Given the description of an element on the screen output the (x, y) to click on. 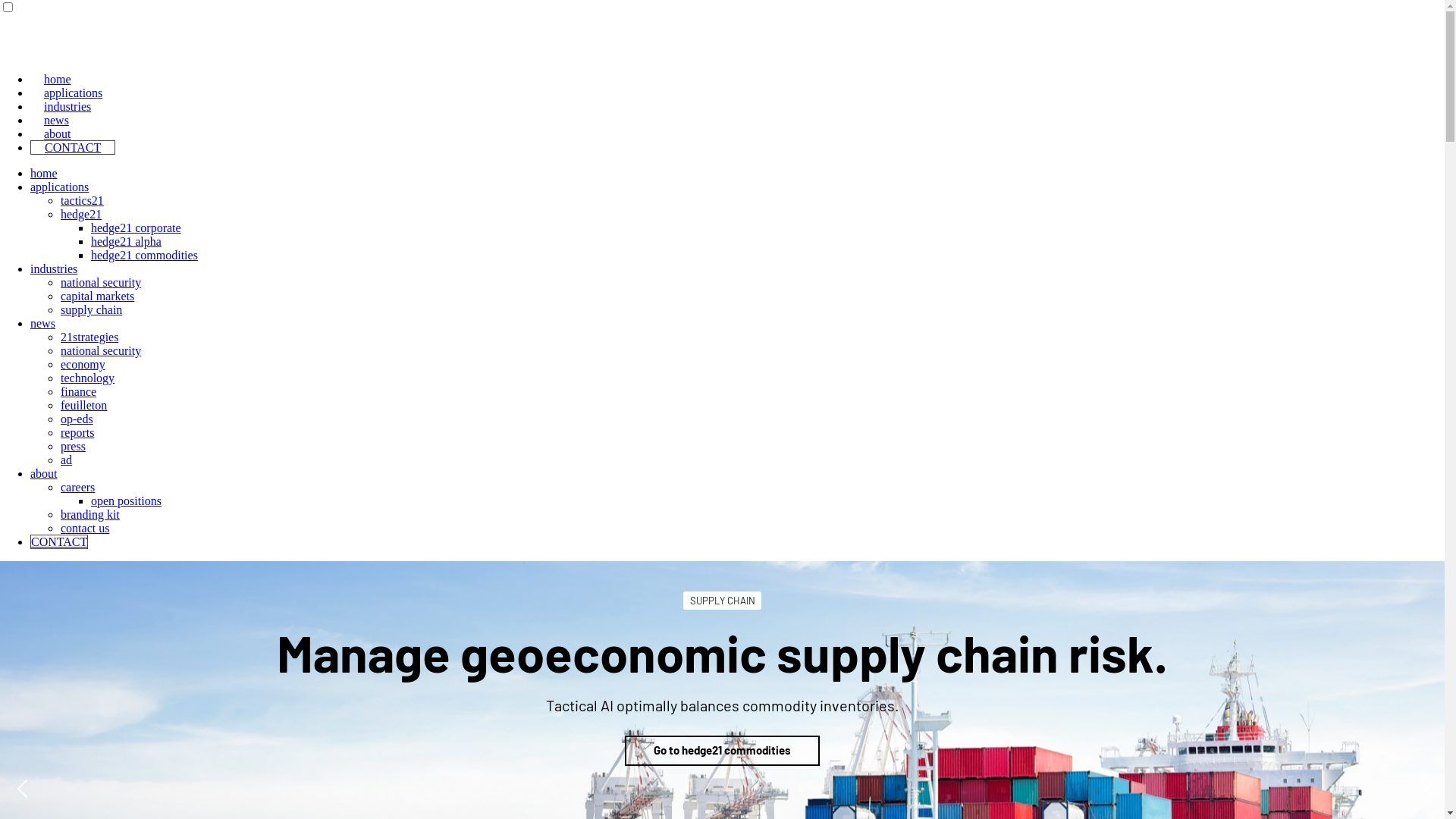
capital markets Element type: text (97, 295)
open positions Element type: text (126, 500)
21strategies Element type: text (89, 336)
news Element type: text (42, 322)
national security Element type: text (100, 350)
news Element type: text (56, 119)
supply chain Element type: text (91, 309)
home Element type: text (57, 78)
feuilleton Element type: text (83, 404)
contact us Element type: text (84, 527)
home Element type: text (43, 172)
CONTACT Element type: text (58, 541)
about Element type: text (57, 133)
careers Element type: text (77, 486)
tactics21 Element type: text (81, 200)
op-eds Element type: text (76, 418)
hedge21 alpha Element type: text (126, 241)
hedge21 corporate Element type: text (136, 227)
ad Element type: text (66, 459)
hedge21 commodities Element type: text (144, 254)
industries Element type: text (67, 106)
technology Element type: text (87, 377)
branding kit Element type: text (89, 514)
economy Element type: text (82, 363)
reports Element type: text (77, 432)
national security Element type: text (100, 282)
industries Element type: text (53, 268)
press Element type: text (72, 445)
hedge21 Element type: text (80, 213)
applications Element type: text (59, 186)
applications Element type: text (73, 92)
CONTACT Element type: text (72, 147)
finance Element type: text (78, 391)
about Element type: text (43, 473)
